Given the description of an element on the screen output the (x, y) to click on. 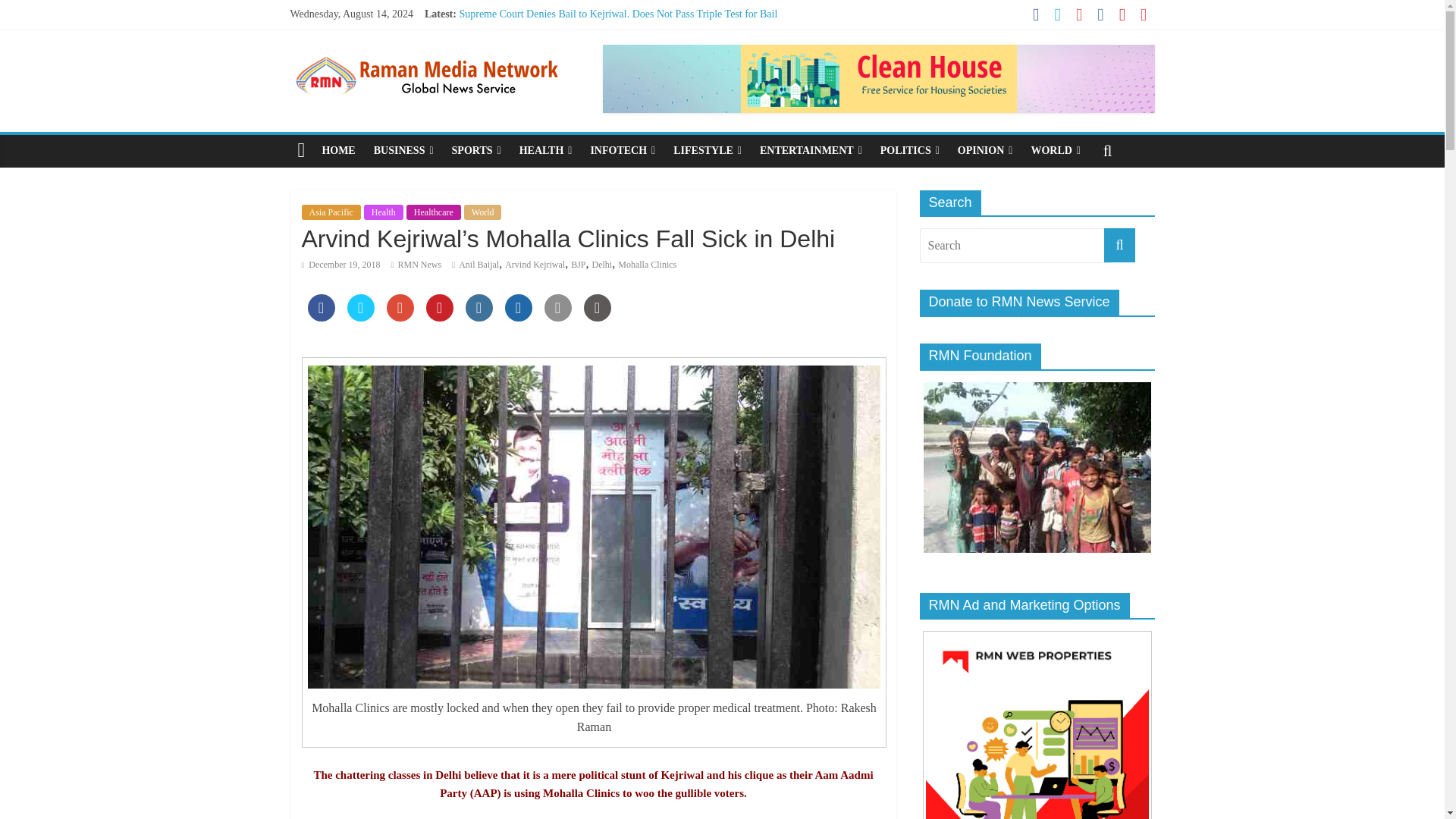
LIFESTYLE (707, 151)
HOME (338, 151)
Raman Media Network (425, 53)
INFOTECH (621, 151)
How Lack of Physical Activity Harms Your Health (566, 30)
BUSINESS (403, 151)
10:40 AM (340, 264)
